Given the description of an element on the screen output the (x, y) to click on. 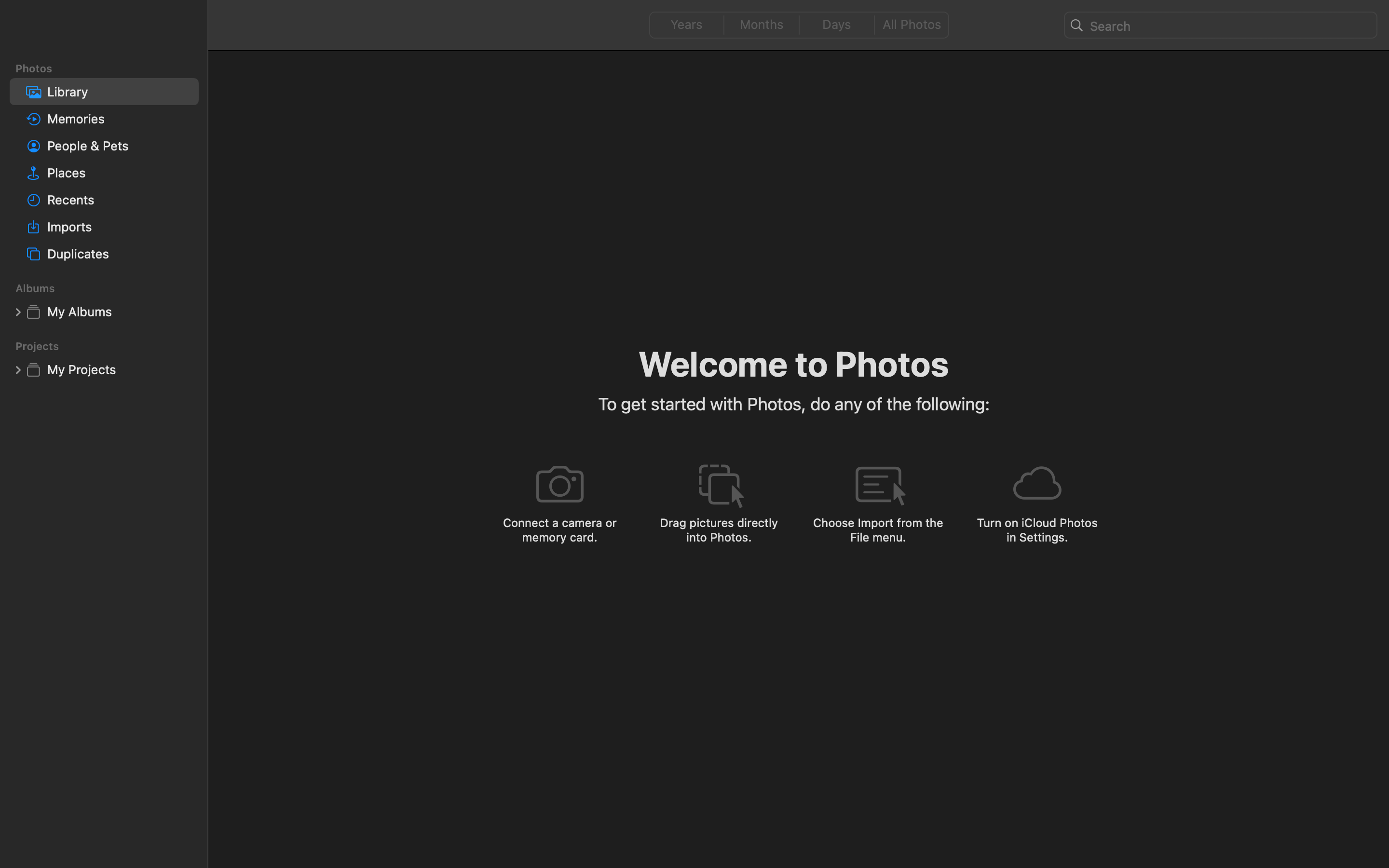
People & Pets Element type: AXStaticText (118, 145)
Duplicates Element type: AXStaticText (118, 253)
Turn on iCloud Photos in Settings. Element type: AXStaticText (1036, 529)
Library Element type: AXStaticText (118, 91)
Recents Element type: AXStaticText (118, 199)
